Given the description of an element on the screen output the (x, y) to click on. 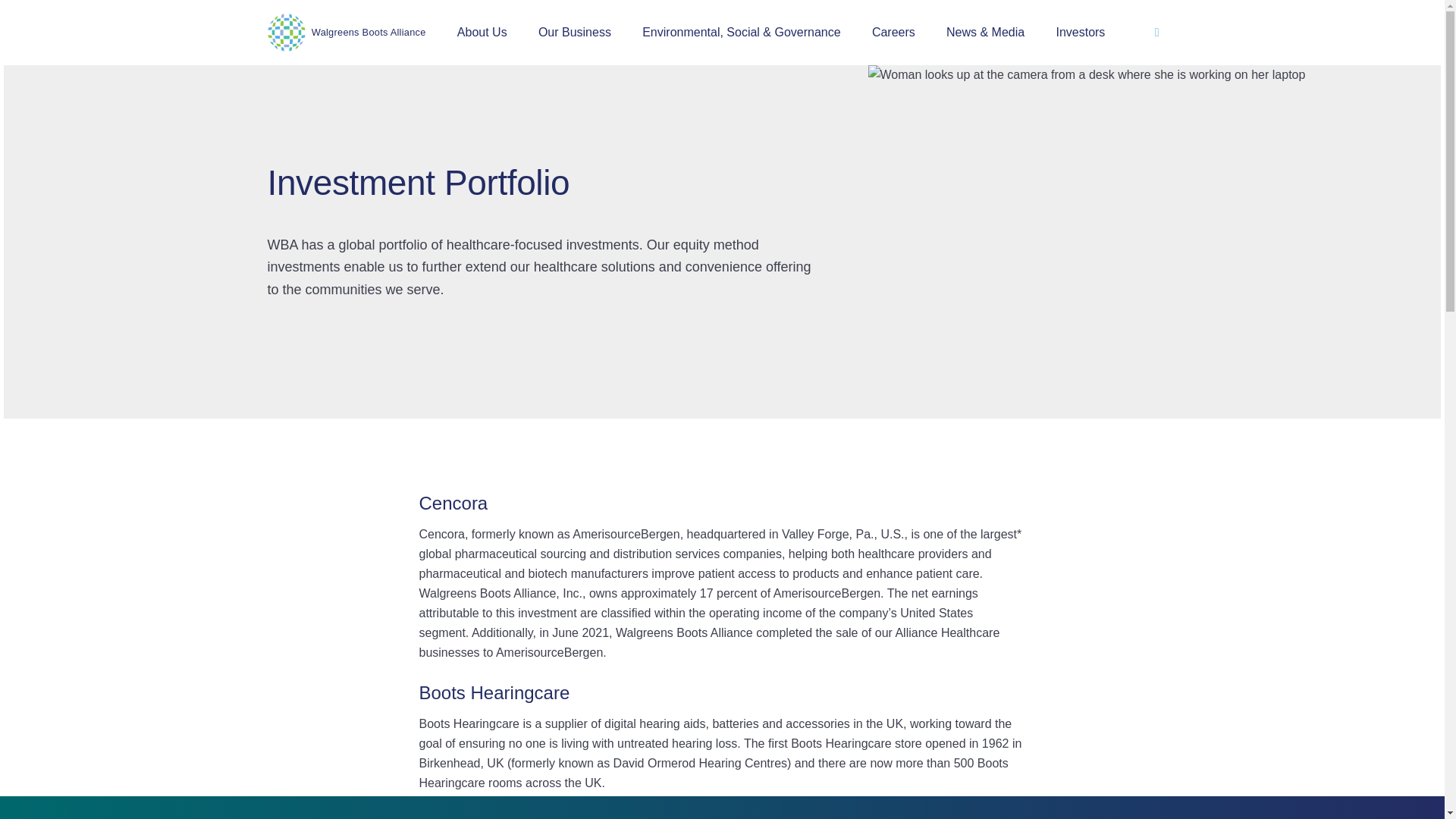
Our Business (574, 32)
Walgreens Boots Alliance (345, 32)
Home (345, 32)
privacy policy (807, 817)
About Us (481, 32)
Accept (1069, 818)
Careers (893, 32)
